Given the description of an element on the screen output the (x, y) to click on. 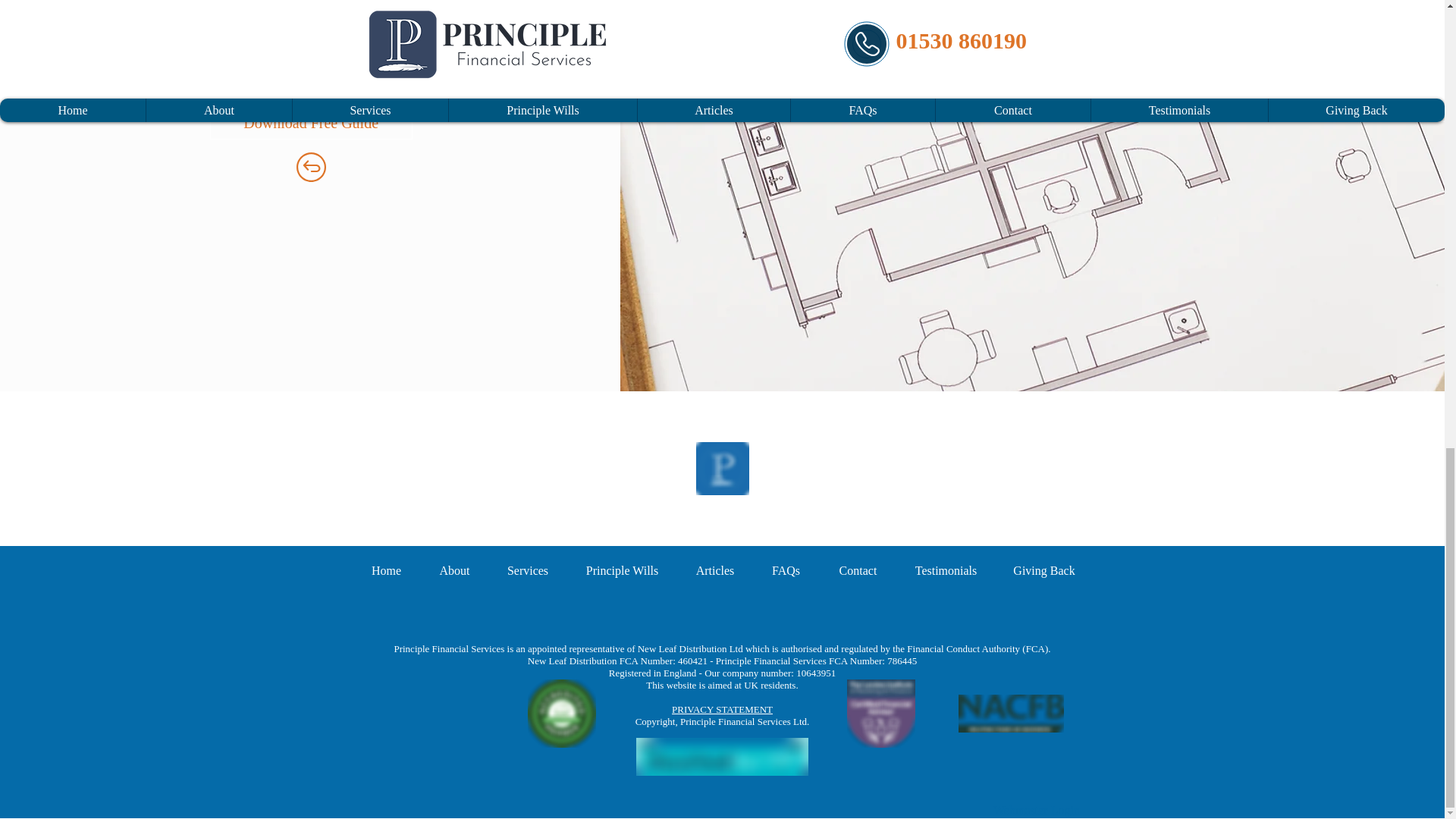
Home (386, 570)
Services (526, 570)
Testimonials (945, 570)
Contact (857, 570)
Giving Back (1043, 570)
About (453, 570)
Download Free Guide (310, 122)
PRIVACY STATEMENT (722, 708)
Principle Wills (622, 570)
FAQs (785, 570)
Webmaster Login (1035, 810)
Articles (715, 570)
